Given the description of an element on the screen output the (x, y) to click on. 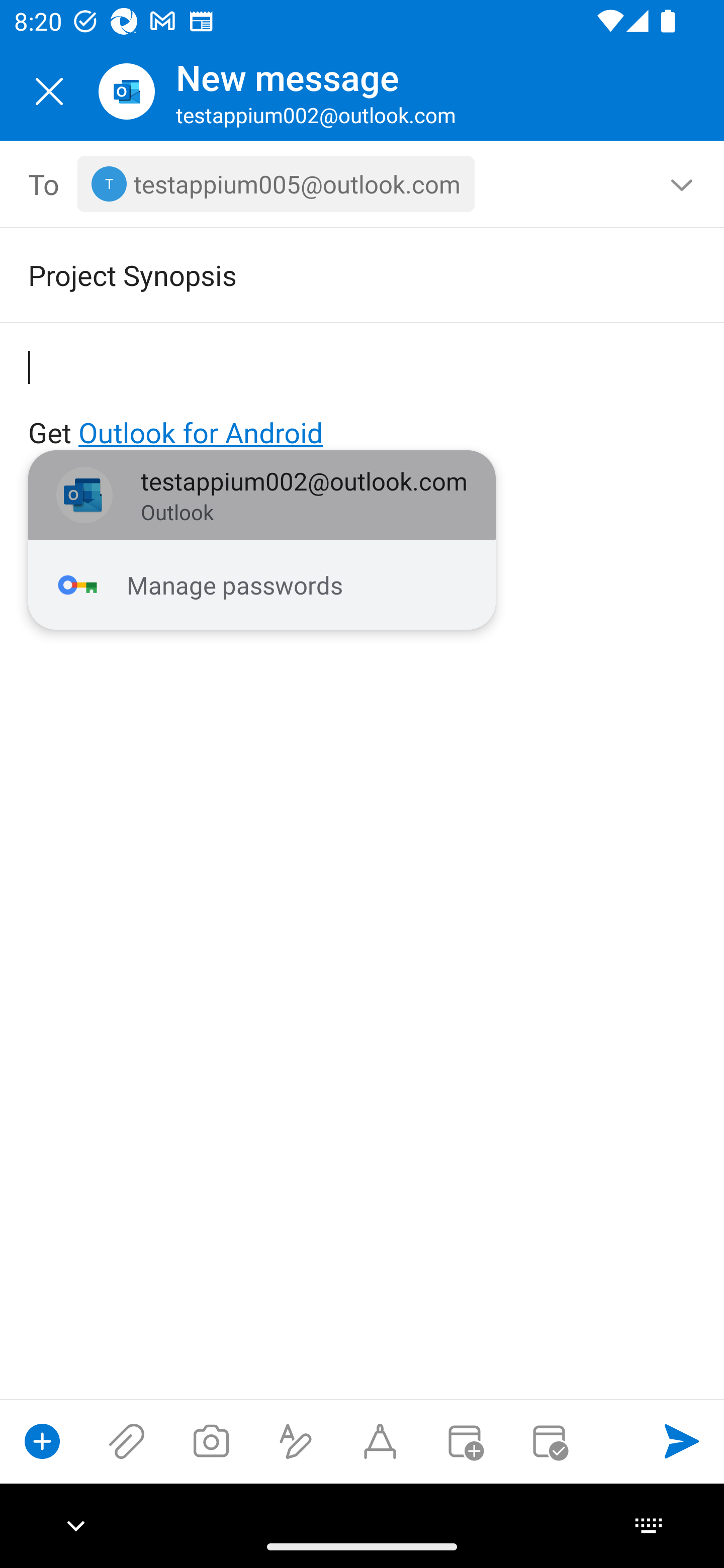
Outlook testappium002@outlook.com Outlook (261, 495)
Google Password Manager Manage passwords (261, 585)
